Given the description of an element on the screen output the (x, y) to click on. 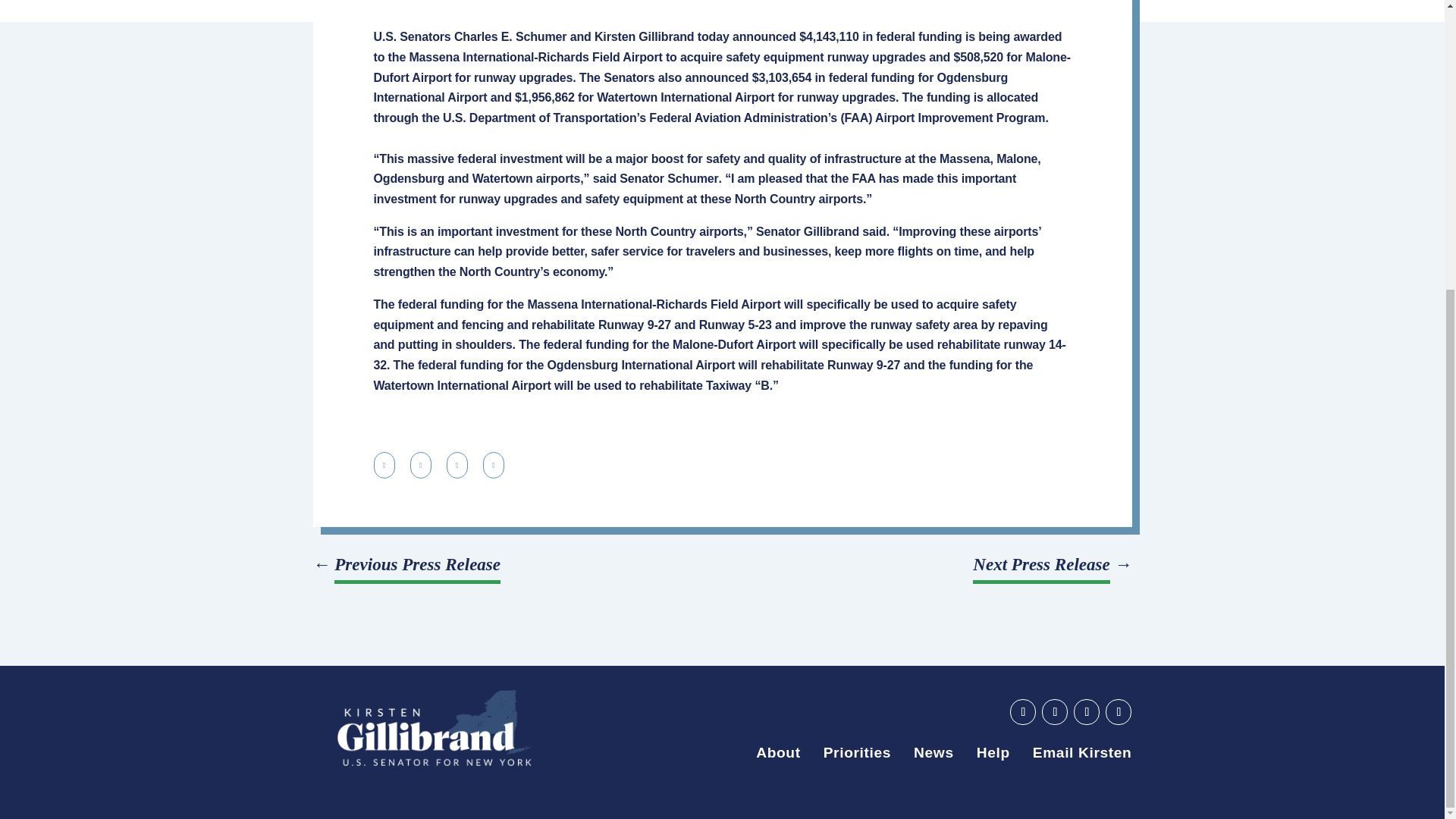
Follow on Instagram (1118, 711)
Follow on Twitter (1086, 711)
Follow on Youtube (1022, 711)
Follow on Facebook (1054, 711)
gillibrand-logo (434, 727)
